Given the description of an element on the screen output the (x, y) to click on. 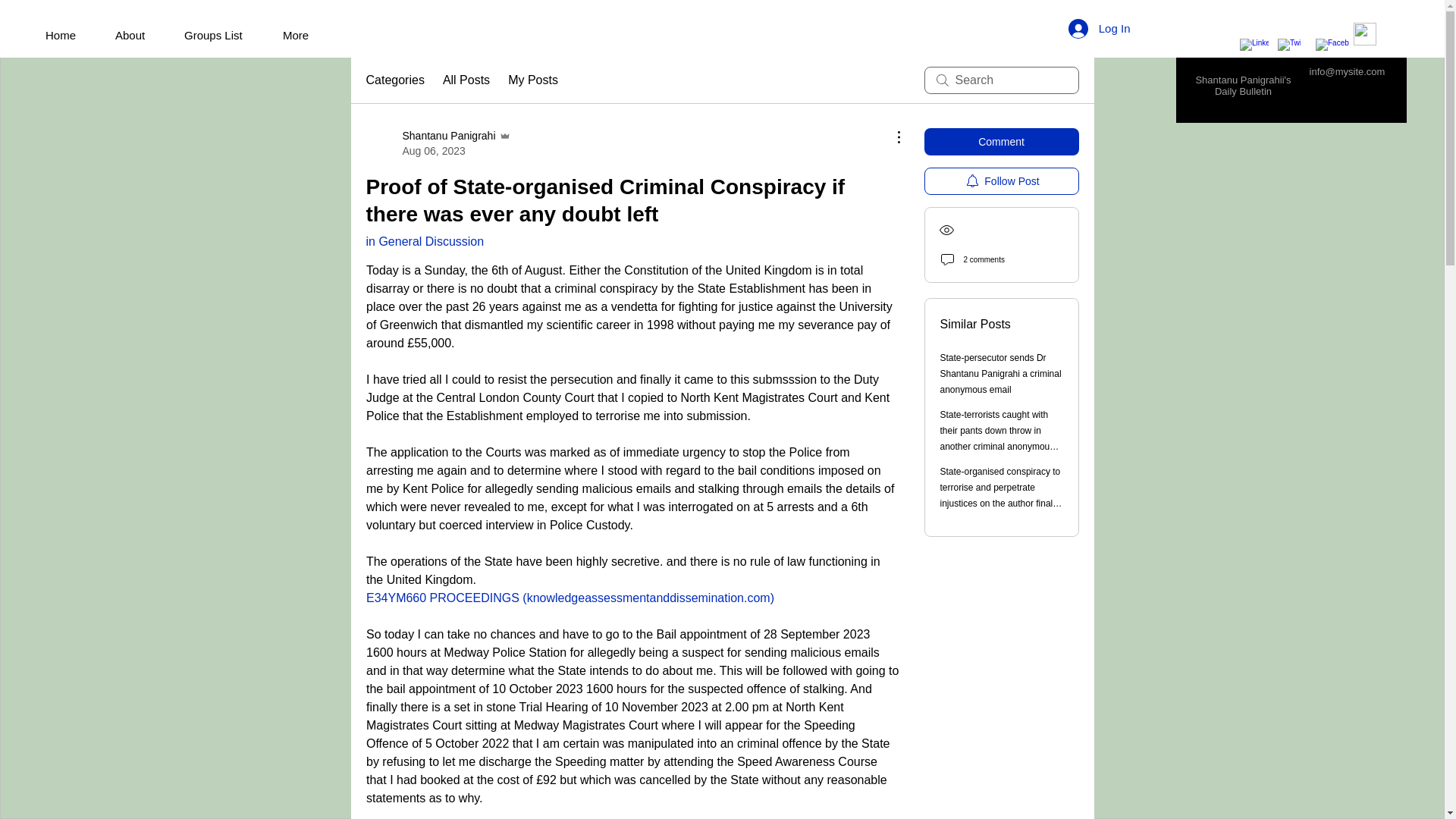
About (138, 34)
My Posts (532, 80)
Groups List (438, 142)
Home (221, 34)
Categories (68, 34)
knowledgeassessmentanddissemination.com (394, 80)
in General Discussion (647, 597)
Log In (424, 241)
All Posts (1099, 27)
